Given the description of an element on the screen output the (x, y) to click on. 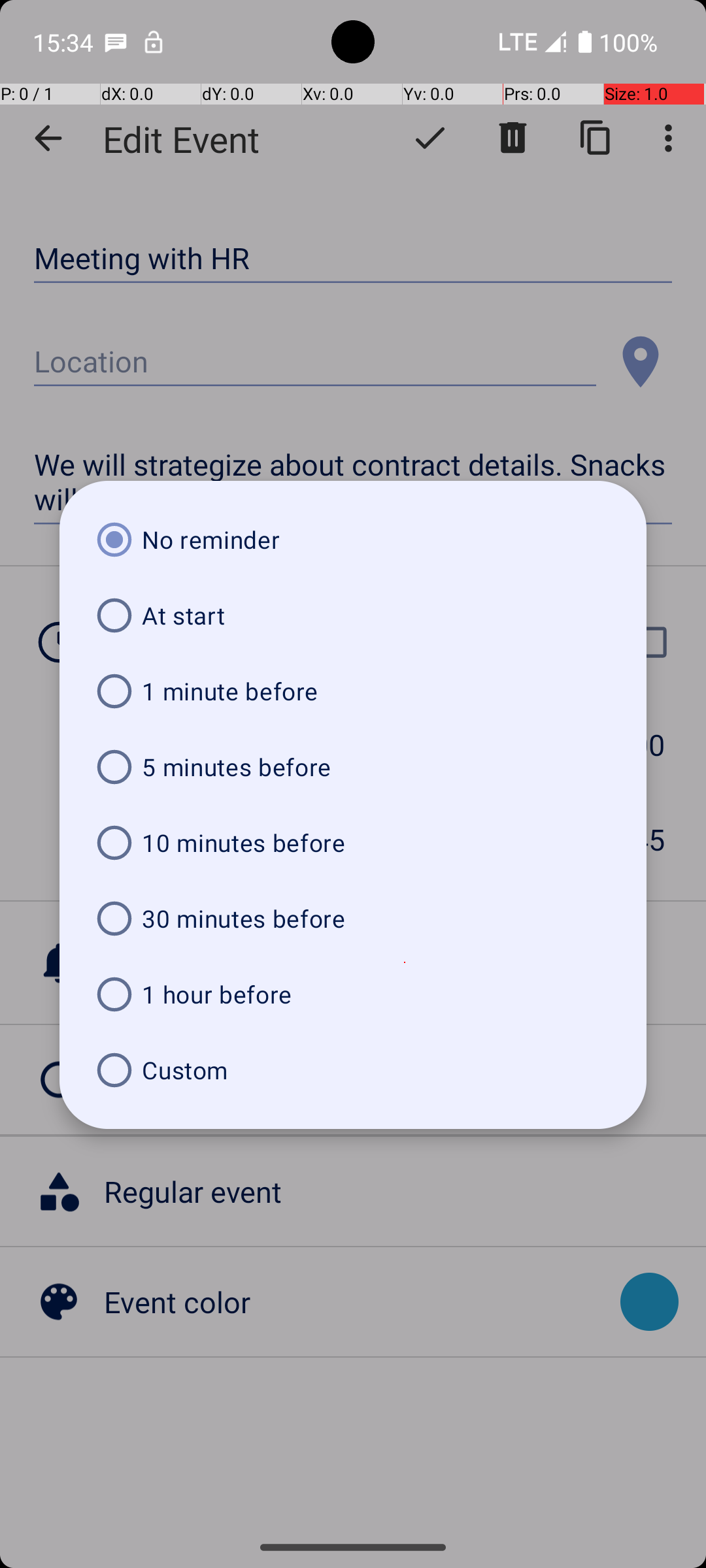
At start Element type: android.widget.RadioButton (352, 615)
1 minute before Element type: android.widget.RadioButton (352, 691)
5 minutes before Element type: android.widget.RadioButton (352, 766)
30 minutes before Element type: android.widget.RadioButton (352, 918)
1 hour before Element type: android.widget.RadioButton (352, 994)
